Given the description of an element on the screen output the (x, y) to click on. 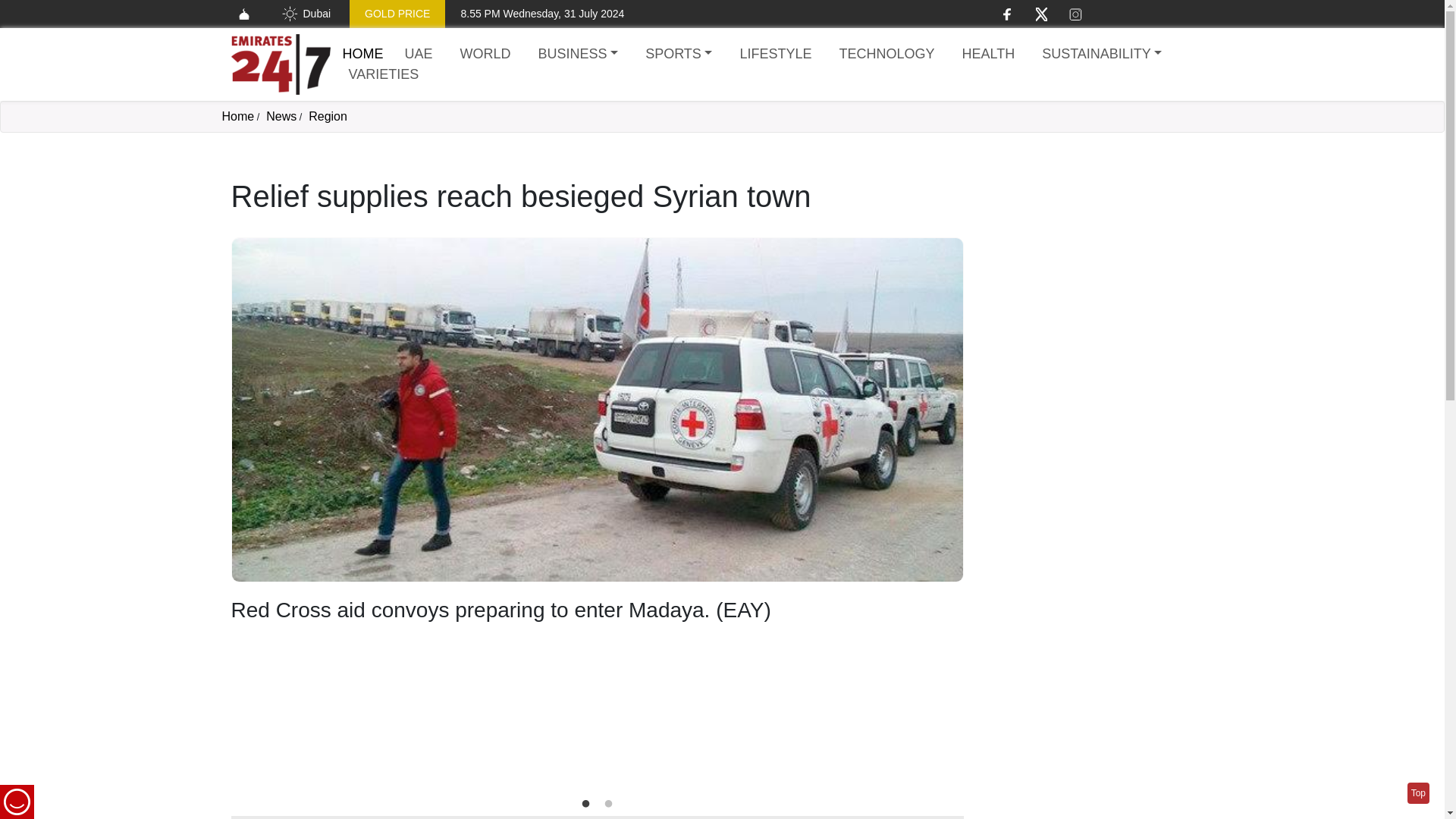
HOME (363, 53)
Home (363, 53)
GOLD PRICE (397, 13)
HEALTH (987, 54)
SPORTS (678, 54)
Previous (254, 514)
Home (280, 64)
UAE (418, 54)
WORLD (485, 54)
VARIETIES (383, 74)
SUSTAINABILITY (1101, 54)
Region (327, 115)
News (281, 115)
LIFESTYLE (774, 54)
Dubai (305, 13)
